Given the description of an element on the screen output the (x, y) to click on. 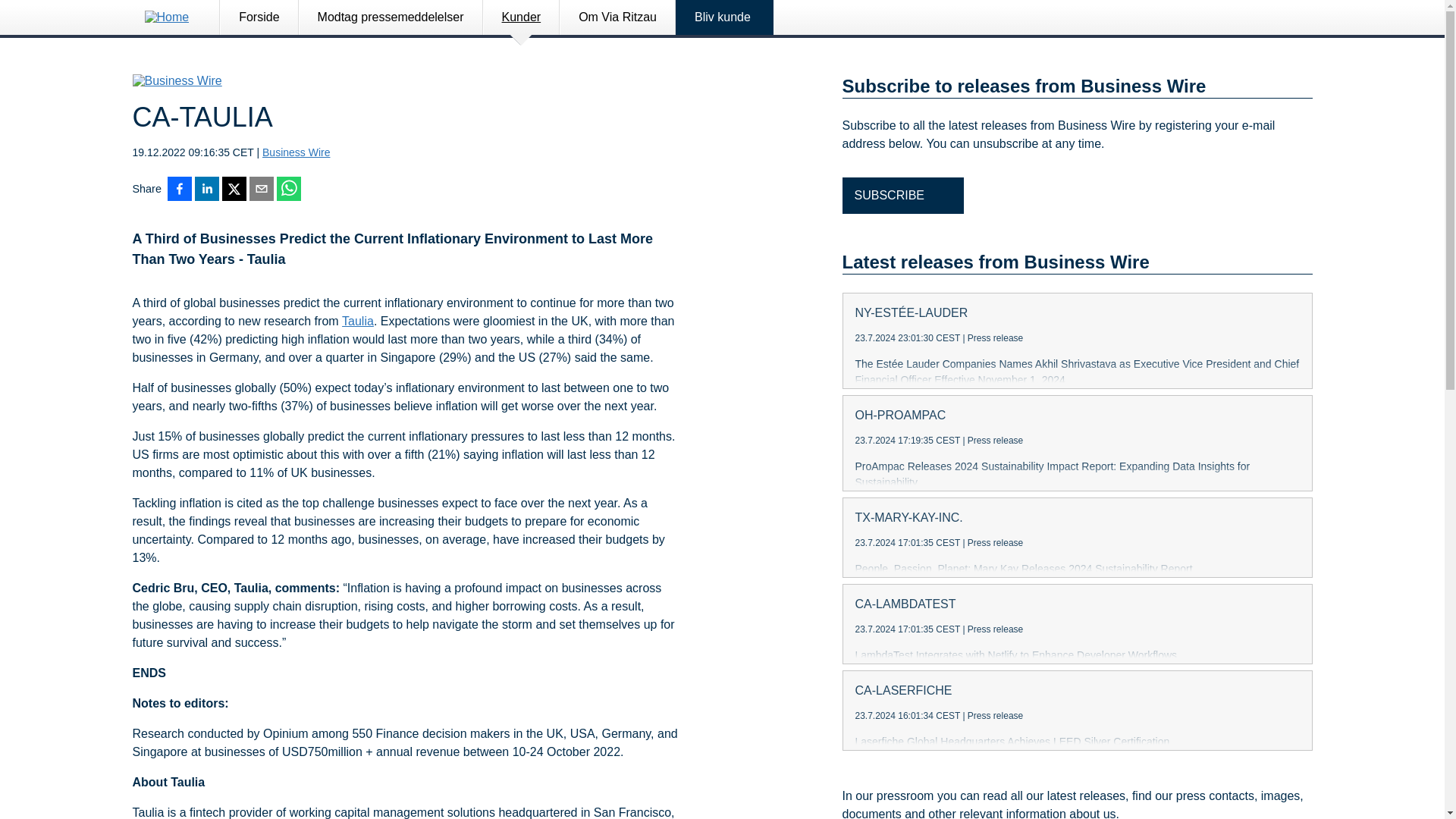
Taulia (358, 321)
Om Via Ritzau (617, 17)
Forside (259, 17)
Kunder (521, 17)
Bliv kunde (725, 17)
SUBSCRIBE (901, 195)
Business Wire (296, 152)
Modtag pressemeddelelser (390, 17)
